Given the description of an element on the screen output the (x, y) to click on. 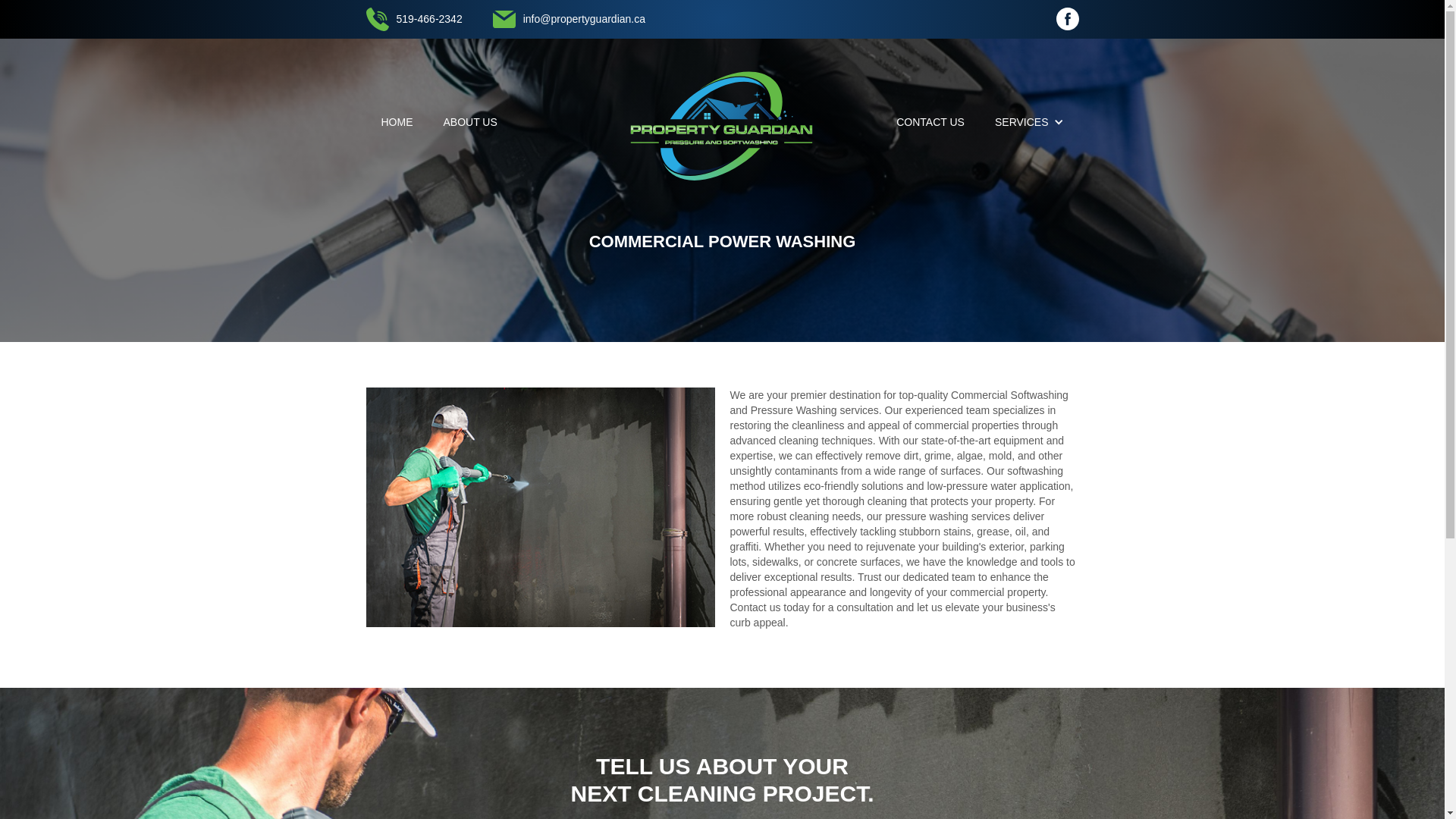
519-466-2342 (413, 19)
CONTACT US (929, 121)
HOME (396, 121)
ABOUT US (470, 121)
